Given the description of an element on the screen output the (x, y) to click on. 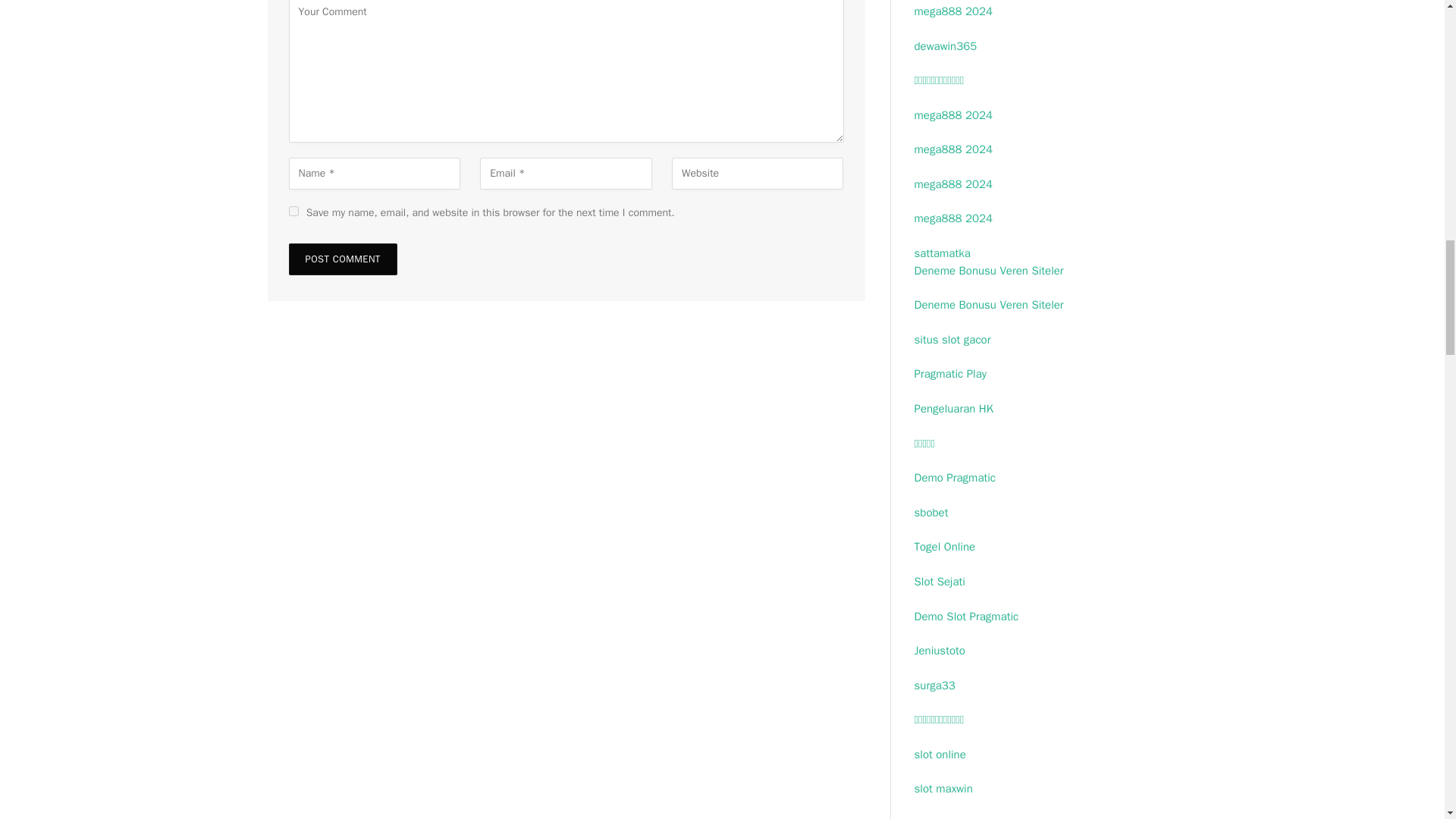
yes (293, 211)
Post Comment (342, 259)
